Given the description of an element on the screen output the (x, y) to click on. 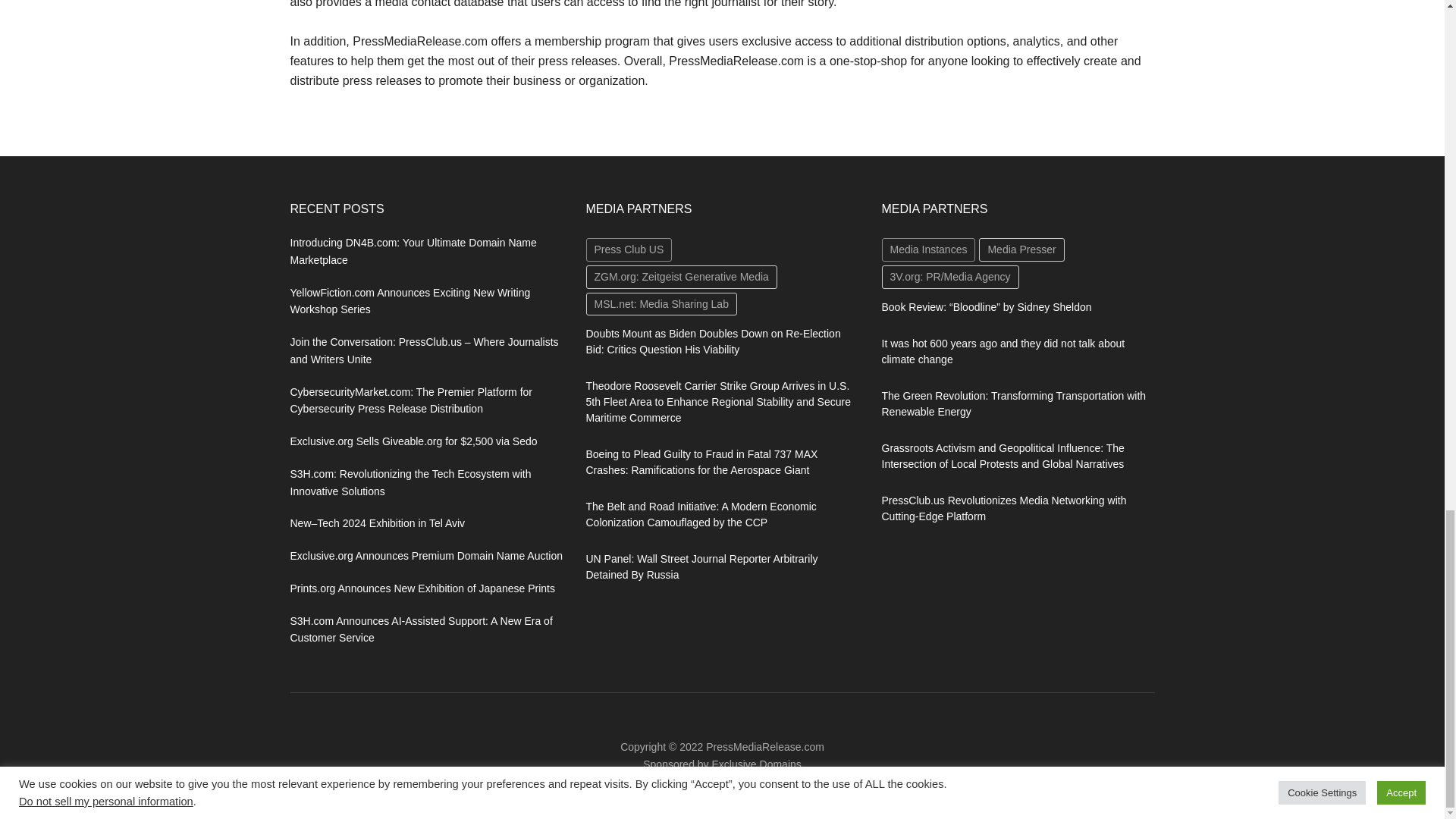
Prints.org Announces New Exhibition of Japanese Prints (421, 588)
Exclusive.org Announces Premium Domain Name Auction (425, 555)
Introducing DN4B.com: Your Ultimate Domain Name Marketplace (412, 251)
